Given the description of an element on the screen output the (x, y) to click on. 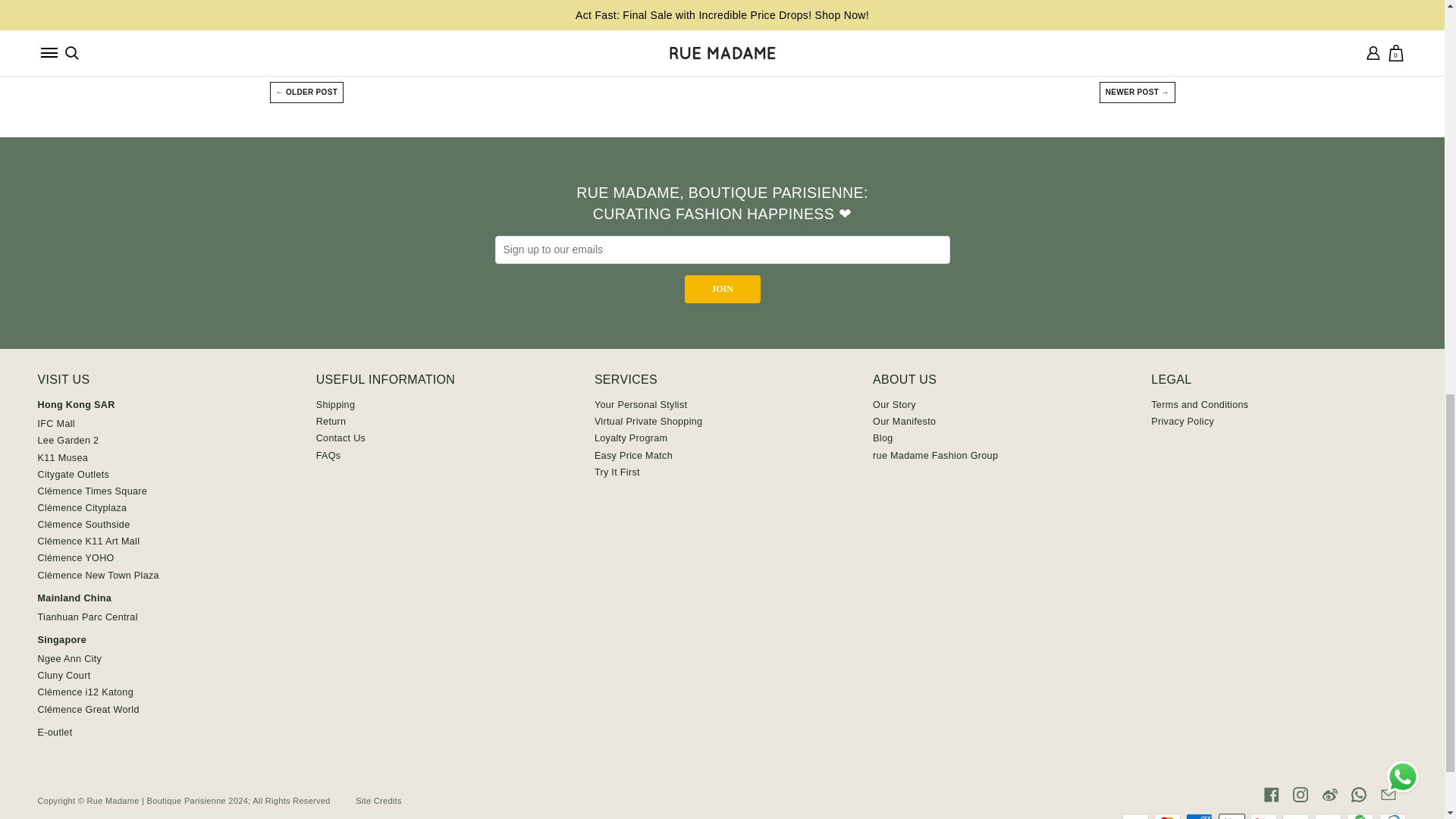
Join (722, 289)
Facebook (1271, 793)
Email (1387, 793)
Whatsapp (1359, 793)
Weibo (1330, 793)
Instagram (1299, 793)
